Given the description of an element on the screen output the (x, y) to click on. 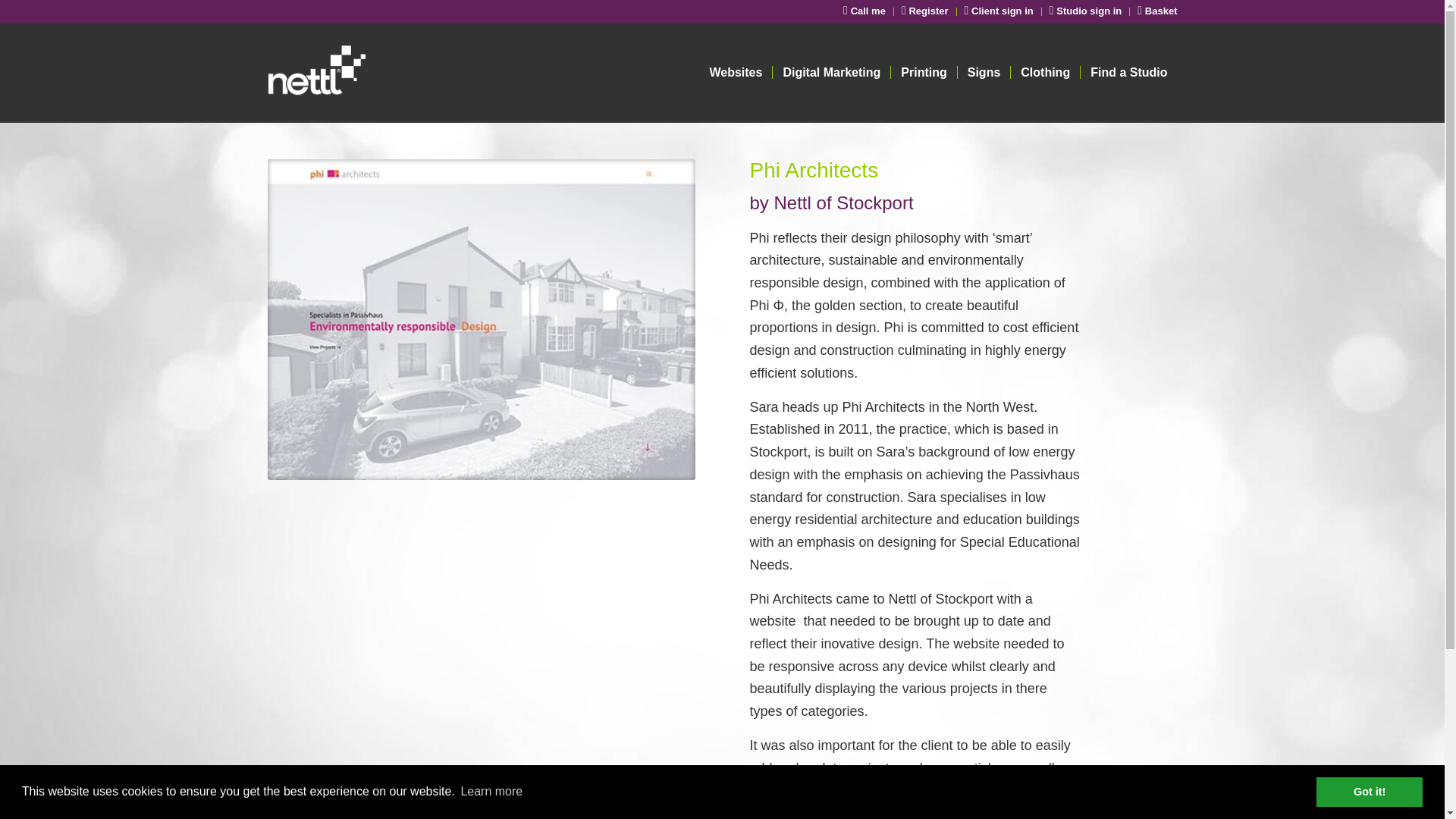
nettl-header-logo-smallest (373, 72)
Basket (1156, 11)
Call me (864, 11)
Learn more (491, 791)
Got it! (1369, 791)
Client sign in (998, 11)
Register (925, 11)
Digital Marketing (830, 72)
Studio sign in (1085, 11)
